Given the description of an element on the screen output the (x, y) to click on. 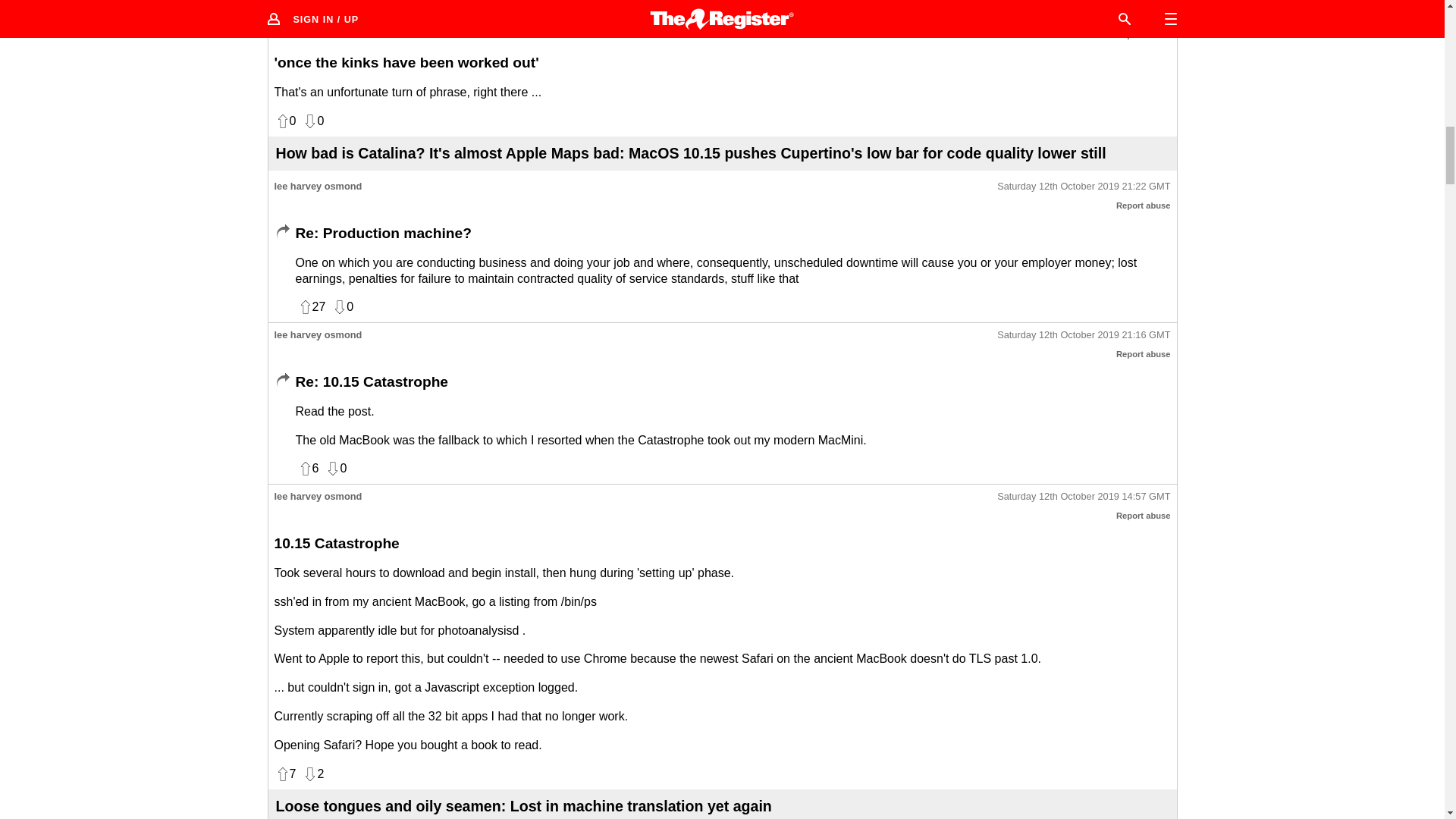
Report abuse (1143, 515)
Report abuse (1143, 34)
Report abuse (1143, 353)
Report abuse (1143, 204)
